Given the description of an element on the screen output the (x, y) to click on. 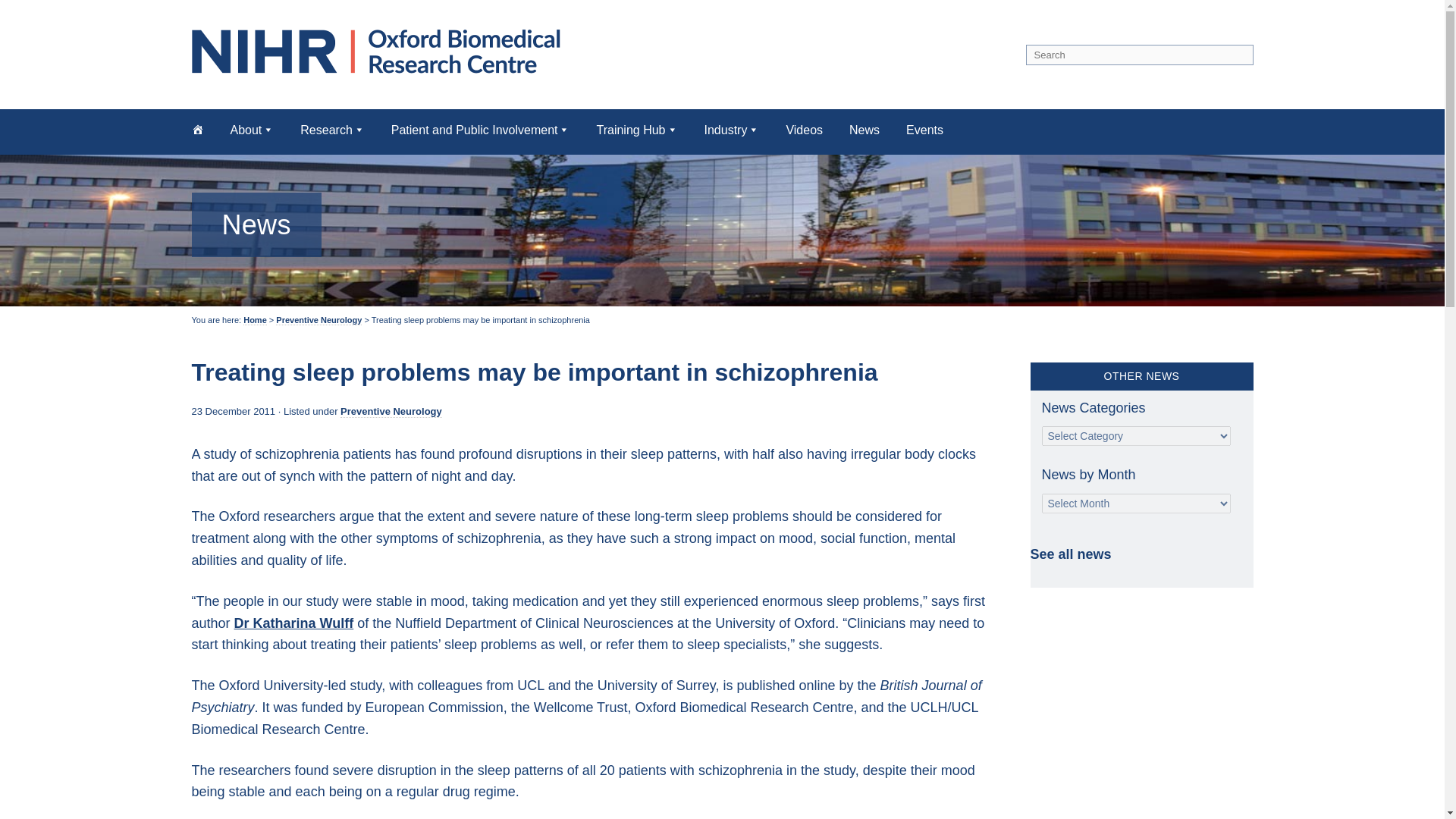
Research (331, 129)
About (252, 129)
Patient and Public Involvement (480, 129)
Training Hub (636, 129)
NIHR Oxford Biomedical Research Centre (380, 50)
